Given the description of an element on the screen output the (x, y) to click on. 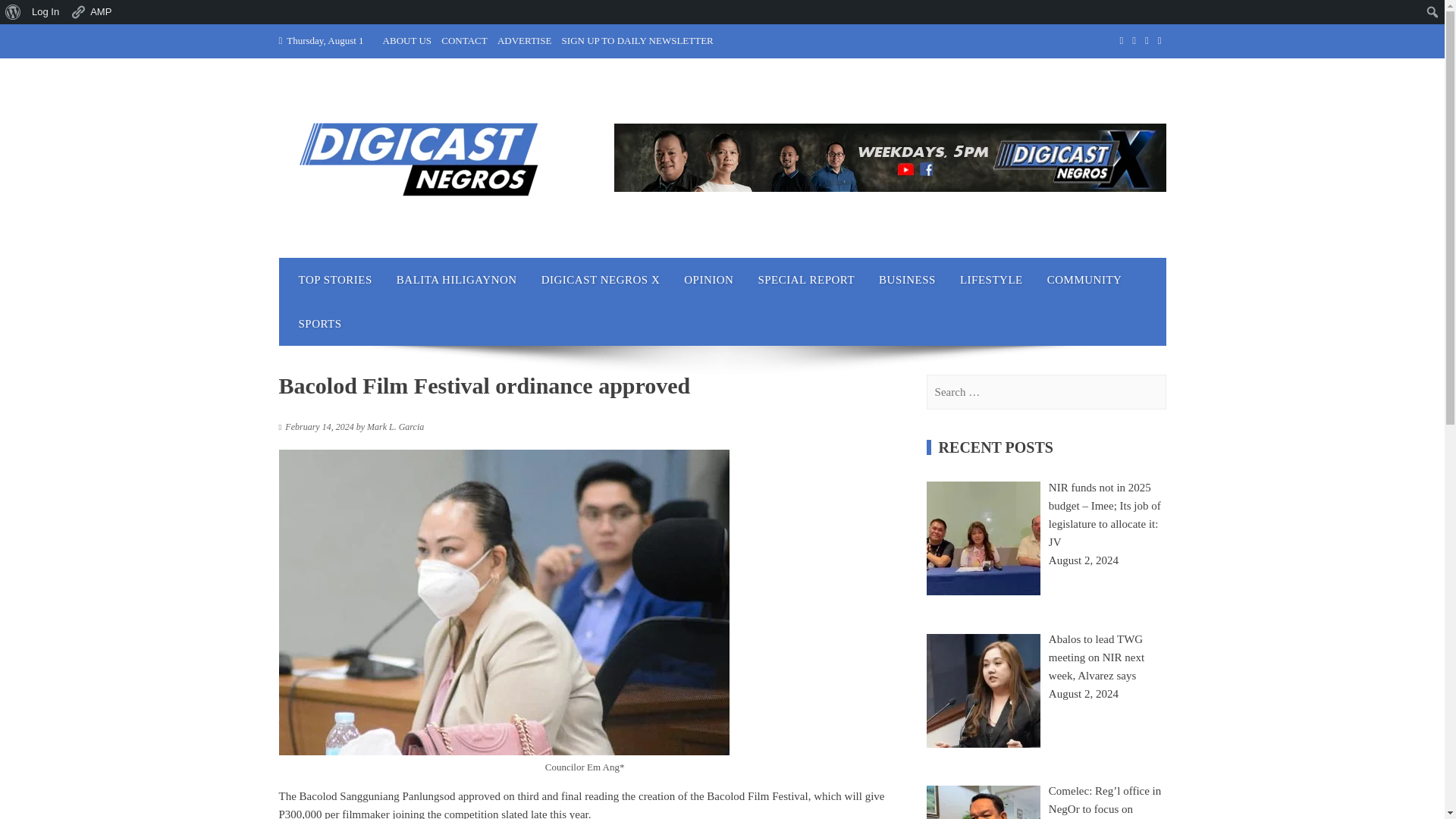
SPECIAL REPORT (805, 279)
COMMUNITY (1084, 279)
Log In (45, 12)
ABOUT US (406, 40)
OPINION (708, 279)
SIGN UP TO DAILY NEWSLETTER (637, 40)
LIFESTYLE (991, 279)
ADVERTISE (524, 40)
Search (15, 12)
AMP (91, 12)
BUSINESS (906, 279)
TOP STORIES (335, 279)
BALITA HILIGAYNON (456, 279)
DIGICAST NEGROS X (600, 279)
SPORTS (319, 323)
